Given the description of an element on the screen output the (x, y) to click on. 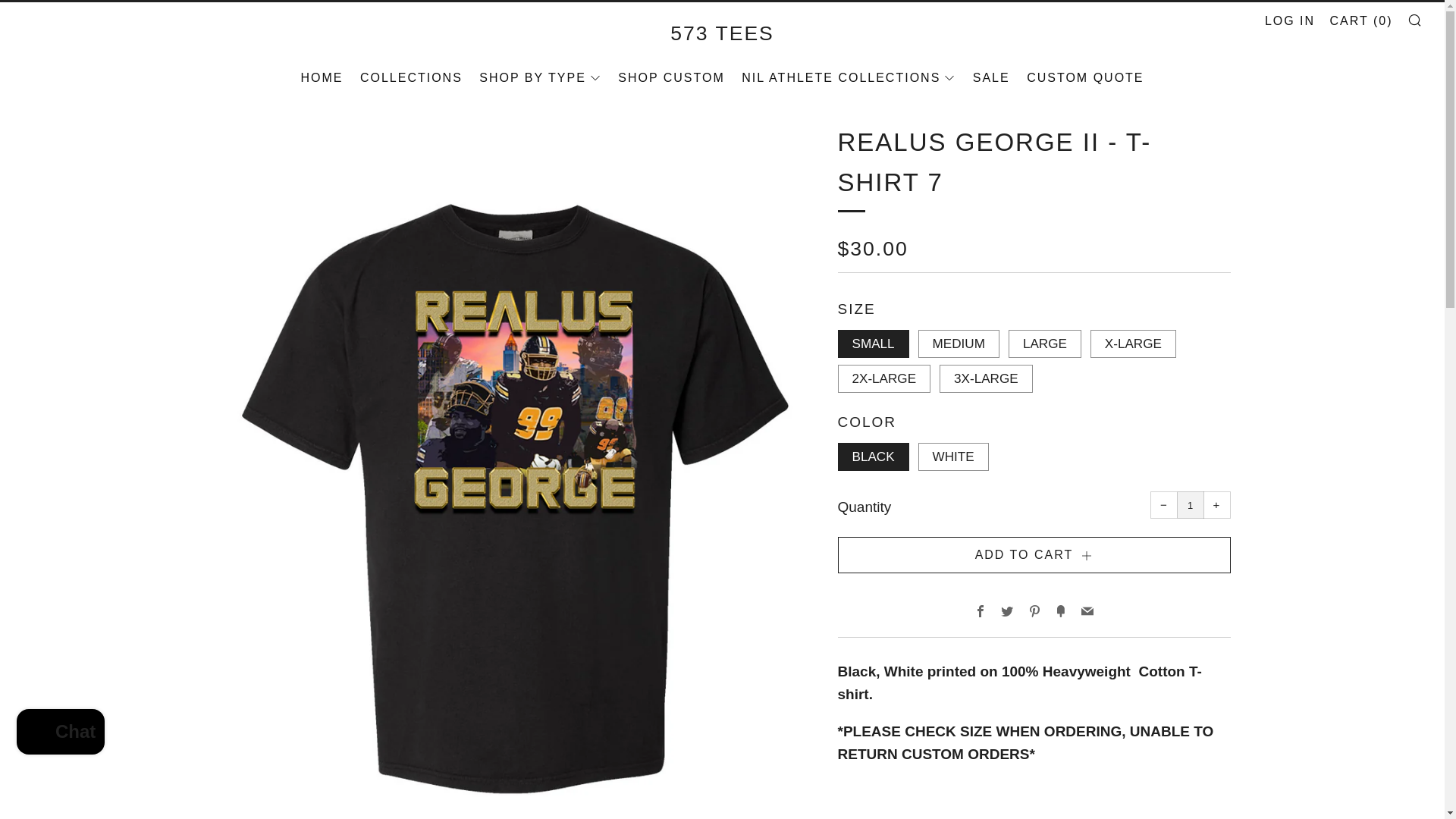
SHOP BY TYPE (540, 78)
Shopify online store chat (60, 733)
LOG IN (1289, 21)
NIL ATHLETE COLLECTIONS (848, 78)
HOME (320, 78)
573 TEES (721, 33)
SHOP CUSTOM (671, 78)
CUSTOM QUOTE (1084, 78)
COLLECTIONS (411, 78)
